Given the description of an element on the screen output the (x, y) to click on. 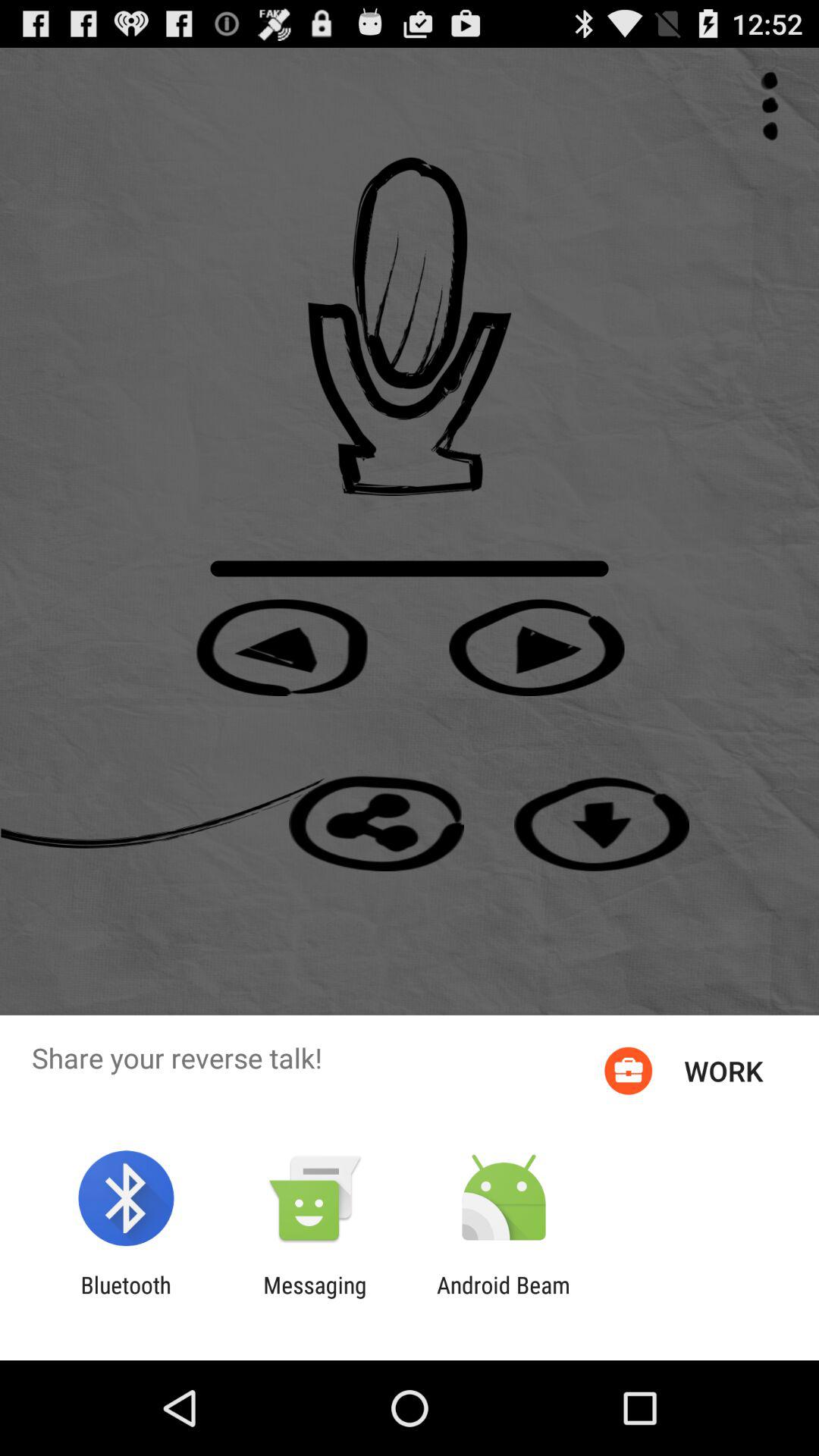
click app to the left of the messaging (125, 1298)
